Given the description of an element on the screen output the (x, y) to click on. 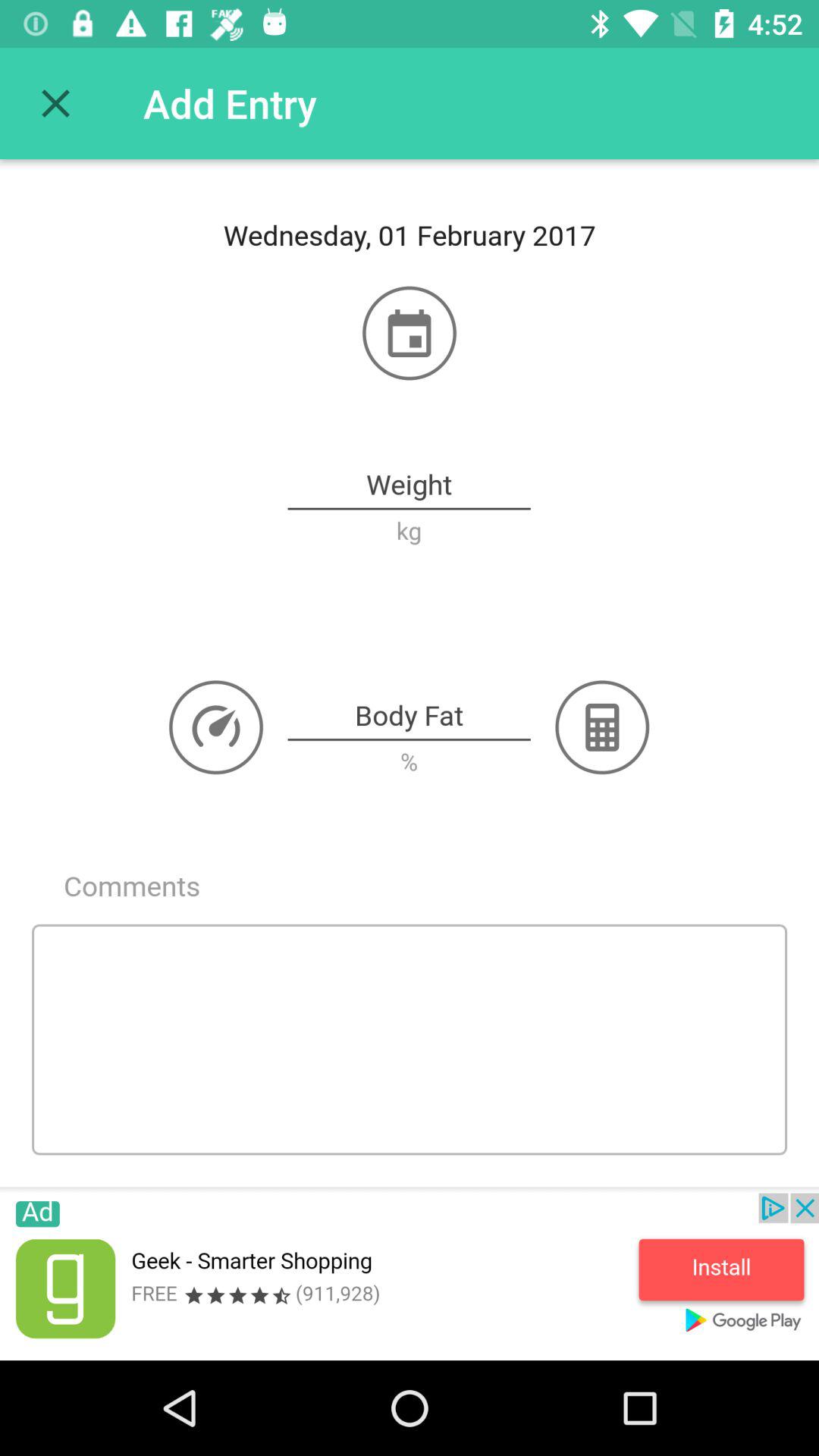
the label next to body fat (602, 726)
click on the icon above weight (409, 333)
